Given the description of an element on the screen output the (x, y) to click on. 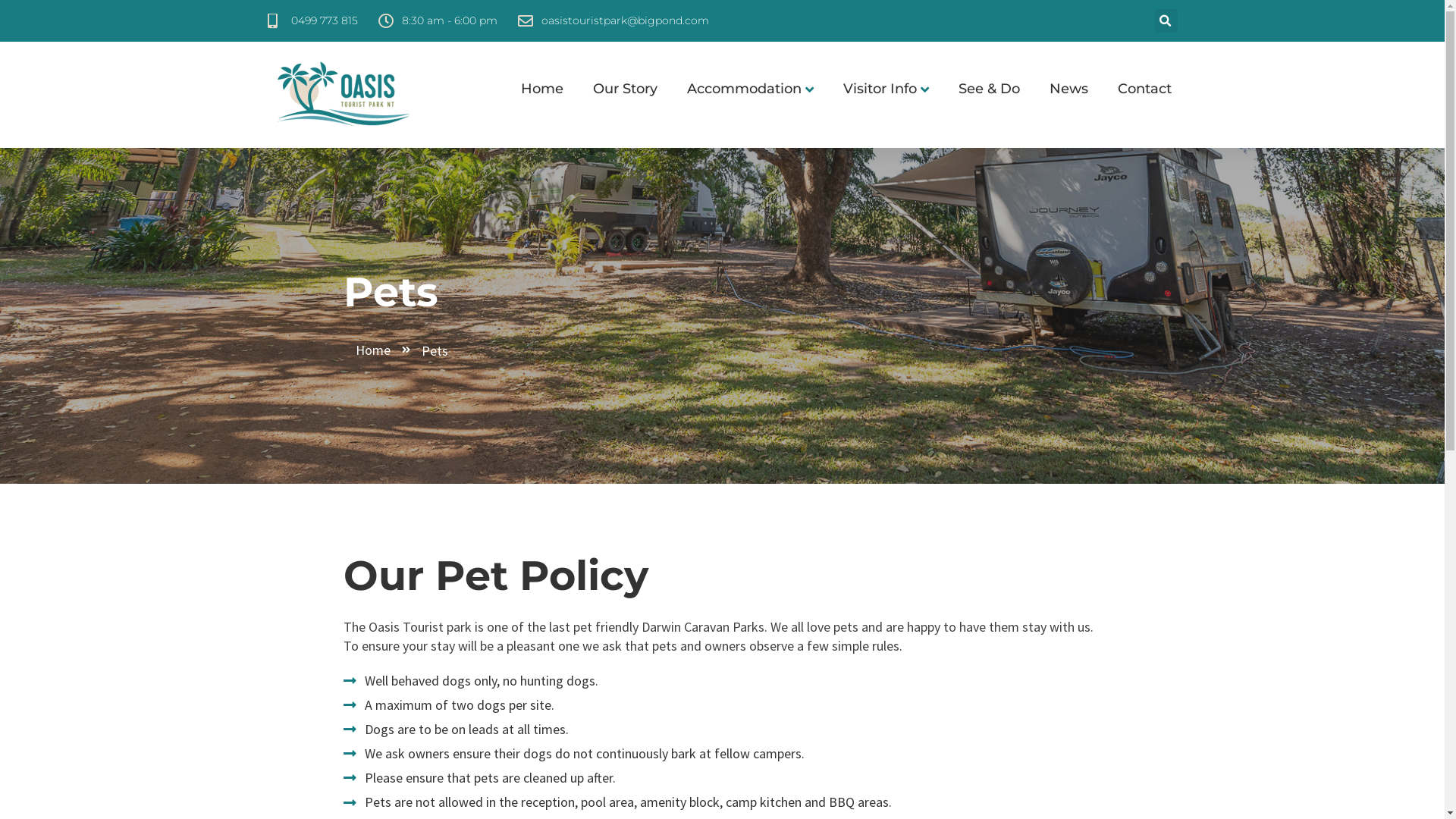
Our Story Element type: text (616, 88)
350_OasisTouristPark_Logo_RGB Element type: hover (342, 94)
News Element type: text (1060, 88)
0499 773 815 Element type: text (311, 20)
Accommodation Element type: text (742, 88)
See & Do Element type: text (981, 88)
Home Element type: text (534, 88)
Visitor Info Element type: text (878, 88)
oasistouristpark@bigpond.com Element type: text (612, 20)
Contact Element type: text (1136, 88)
Home Element type: text (383, 349)
